Given the description of an element on the screen output the (x, y) to click on. 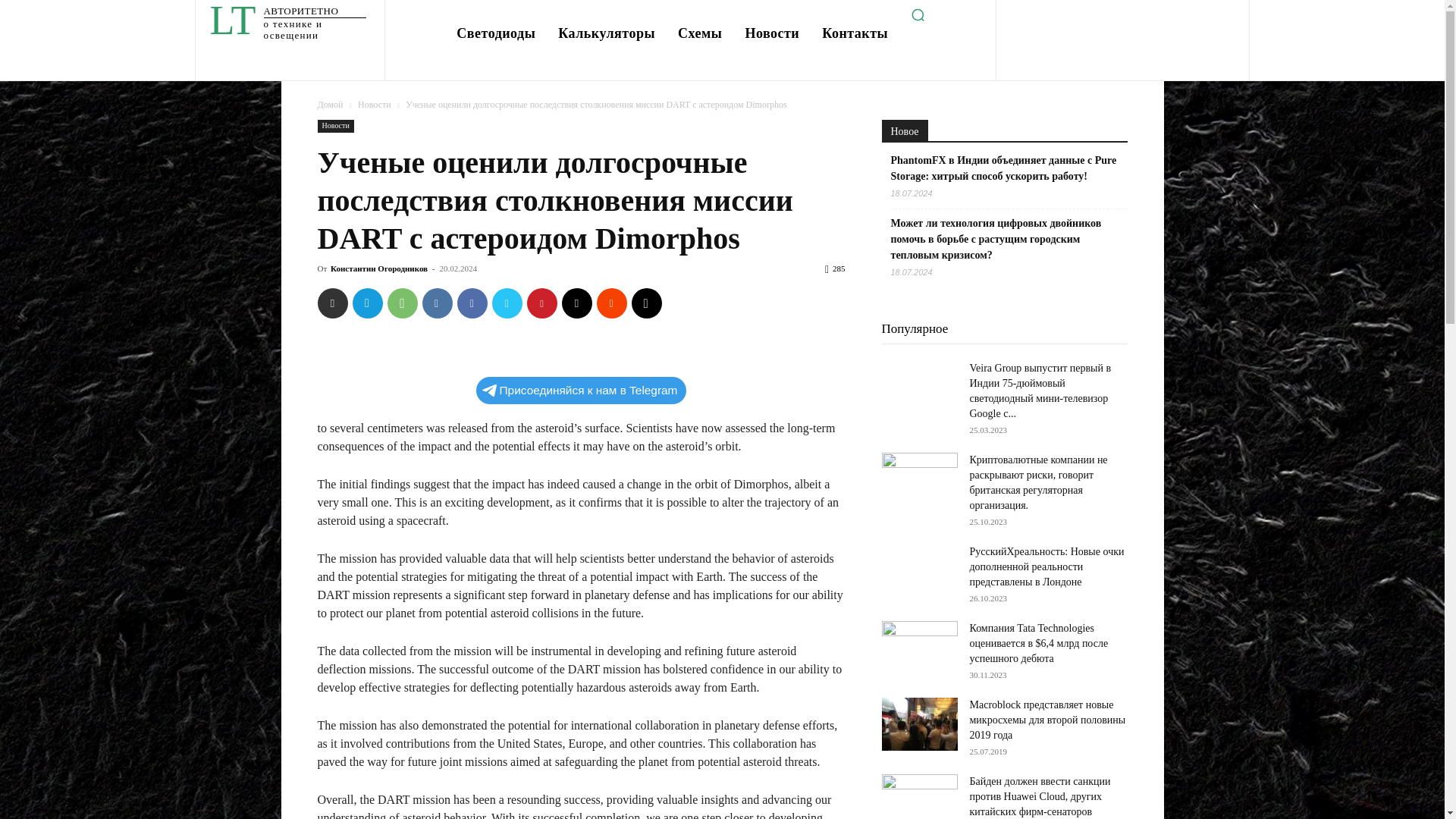
Email (575, 303)
Pinterest (540, 303)
Facebook (471, 303)
Telegram (366, 303)
VK (436, 303)
WhatsApp (401, 303)
Twitter (506, 303)
